Given the description of an element on the screen output the (x, y) to click on. 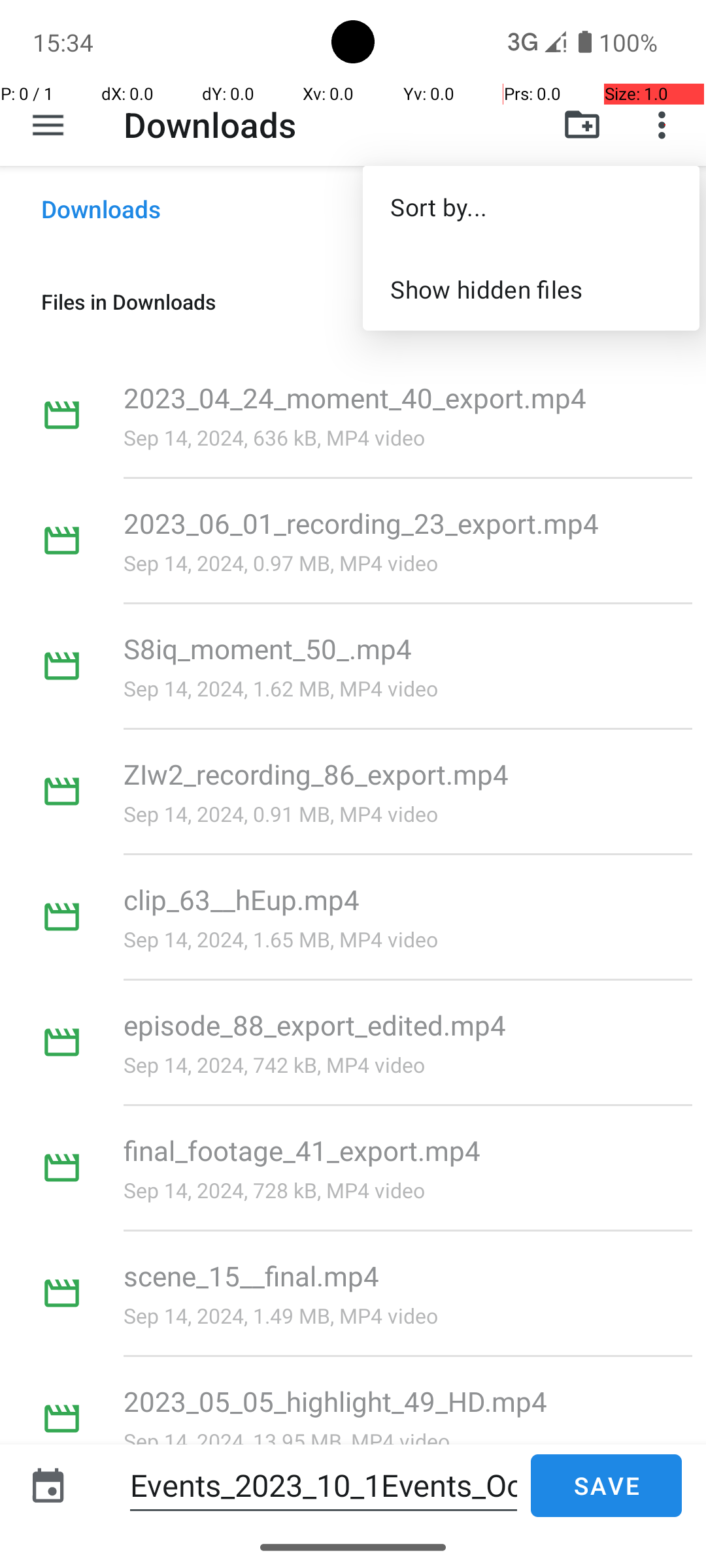
Sort by... Element type: android.widget.TextView (531, 206)
Show hidden files Element type: android.widget.TextView (531, 288)
